Given the description of an element on the screen output the (x, y) to click on. 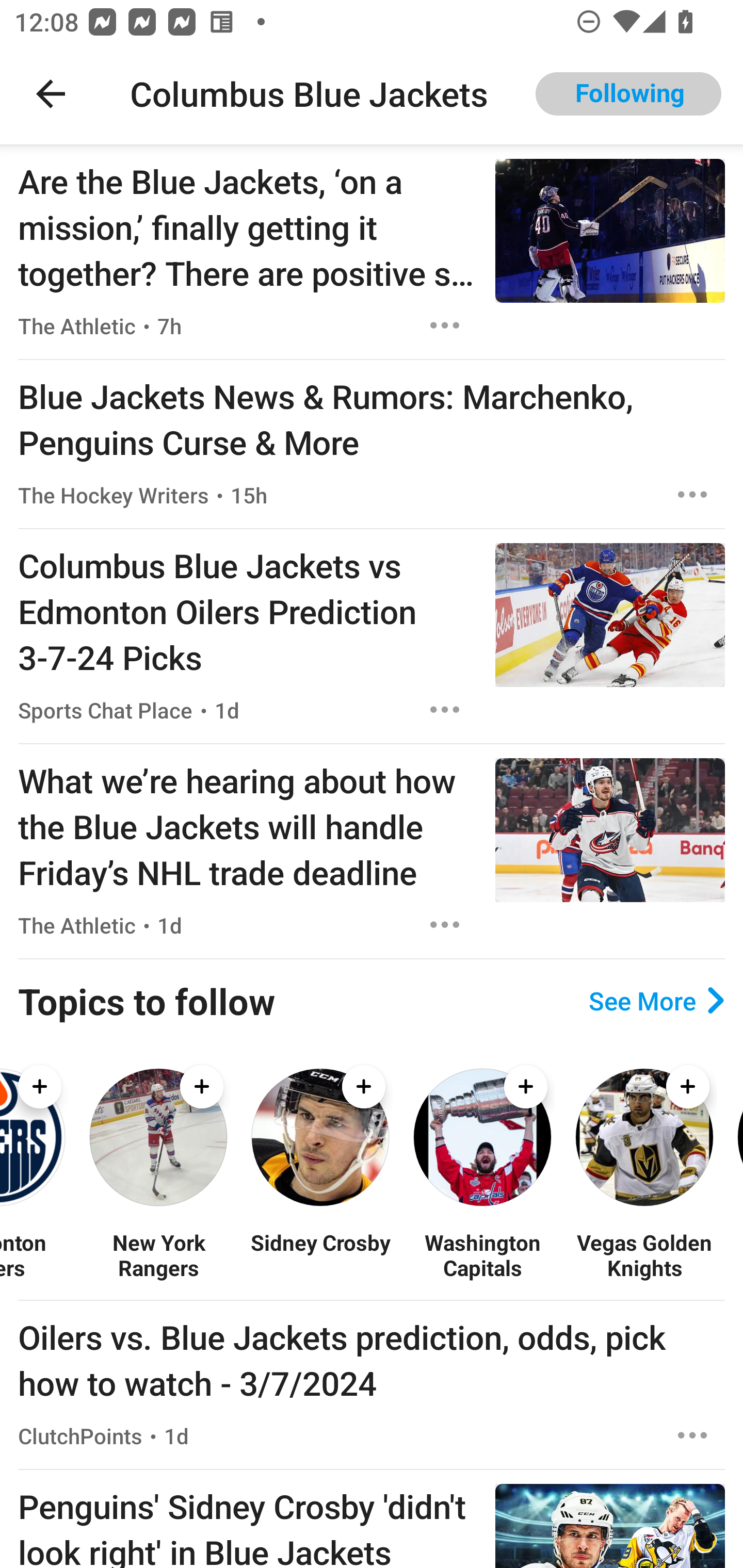
Navigate up (50, 93)
Following (628, 94)
Options (444, 325)
Options (692, 494)
Options (444, 709)
Options (444, 925)
See More (656, 1000)
New York Rangers (158, 1254)
Sidney Crosby (320, 1254)
Washington Capitals (482, 1254)
Vegas Golden Knights (644, 1254)
Options (692, 1435)
